Given the description of an element on the screen output the (x, y) to click on. 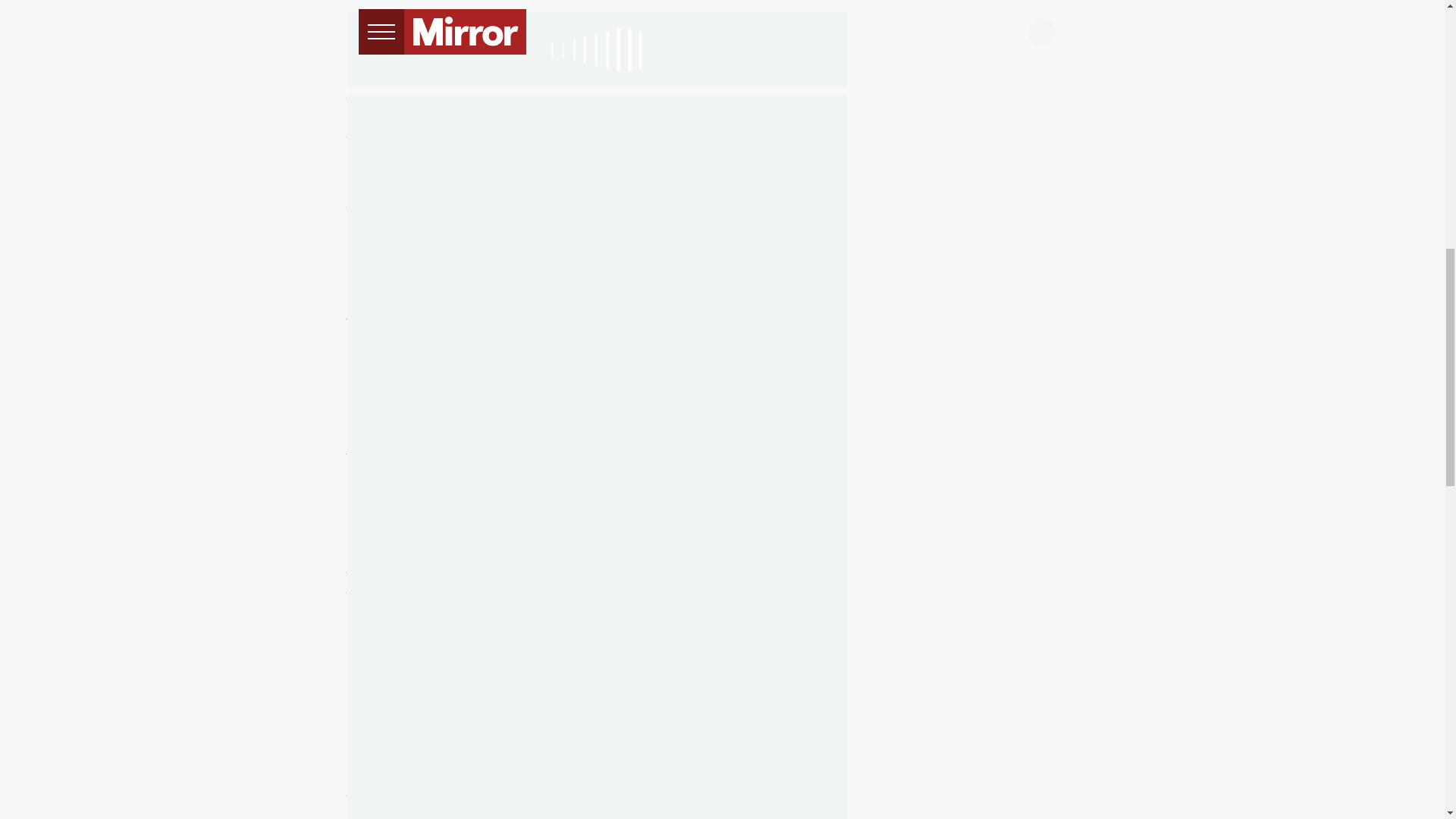
Nikki Grahame (606, 102)
Sign up for the free Mirror newsletter (713, 348)
Big Brother (498, 102)
